Given the description of an element on the screen output the (x, y) to click on. 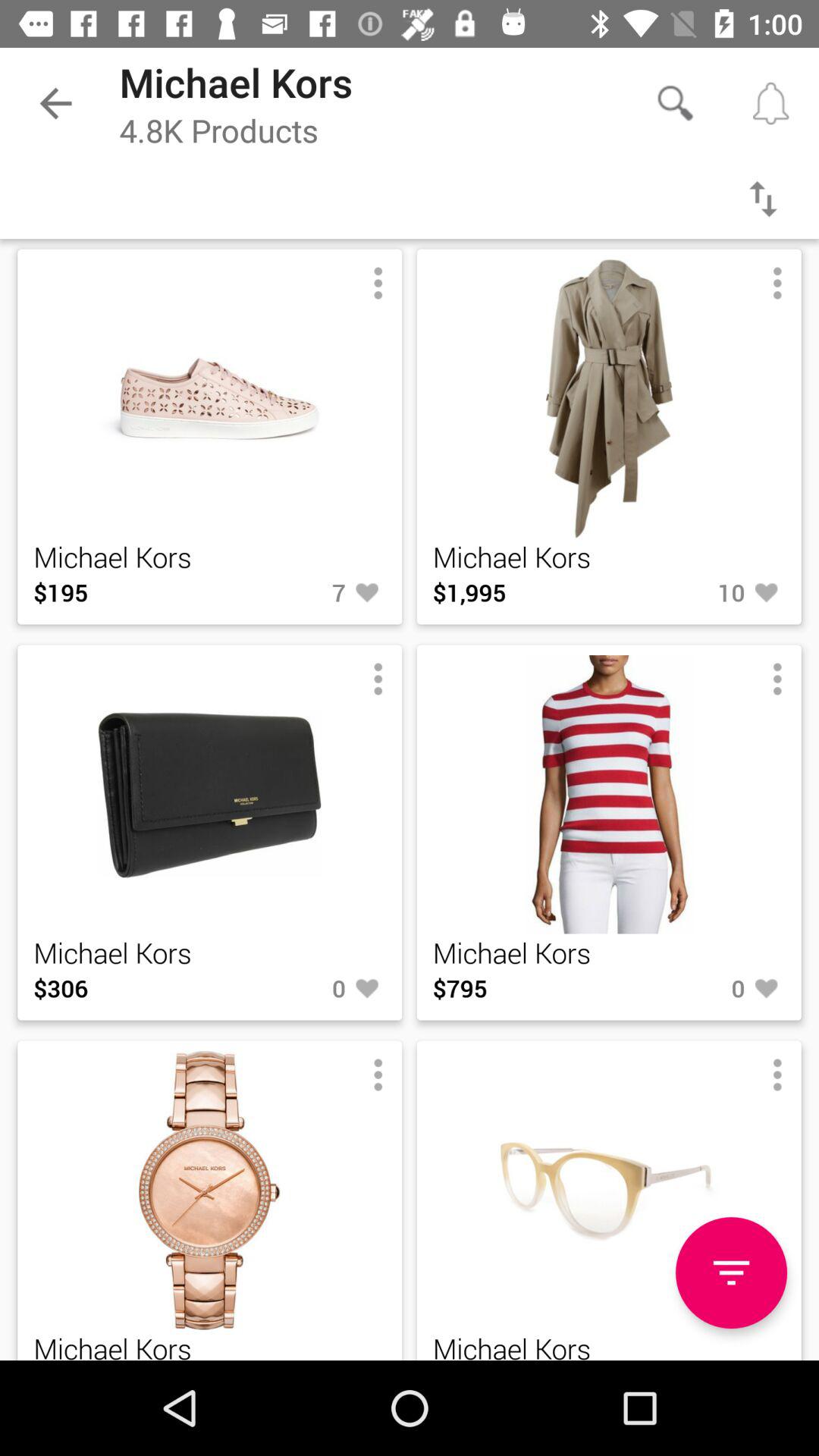
turn on item next to michael kors item (297, 1359)
